Given the description of an element on the screen output the (x, y) to click on. 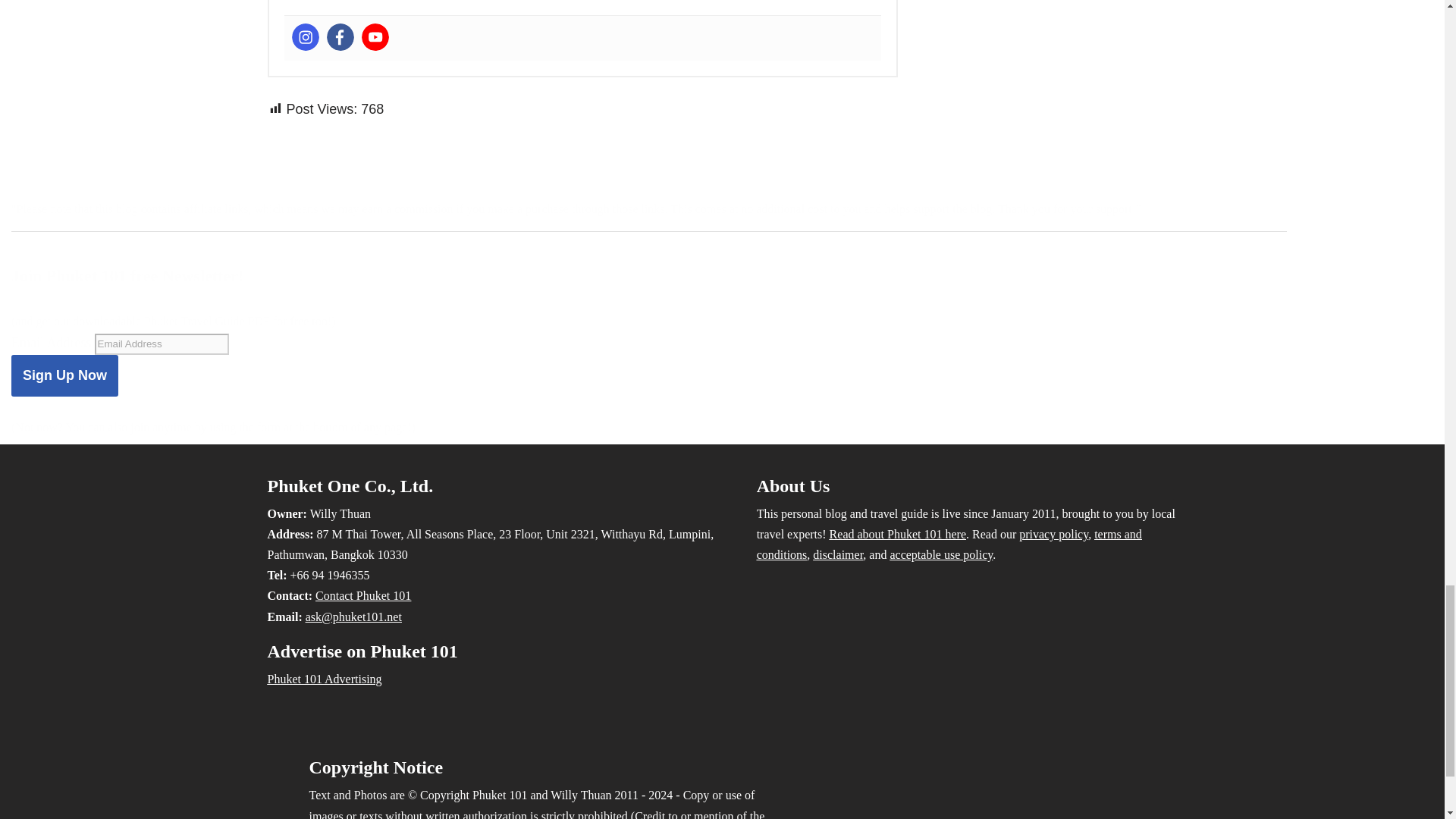
Facebook (339, 36)
Instagram (304, 36)
Sign Up Now (64, 375)
Youtube (374, 36)
